Given the description of an element on the screen output the (x, y) to click on. 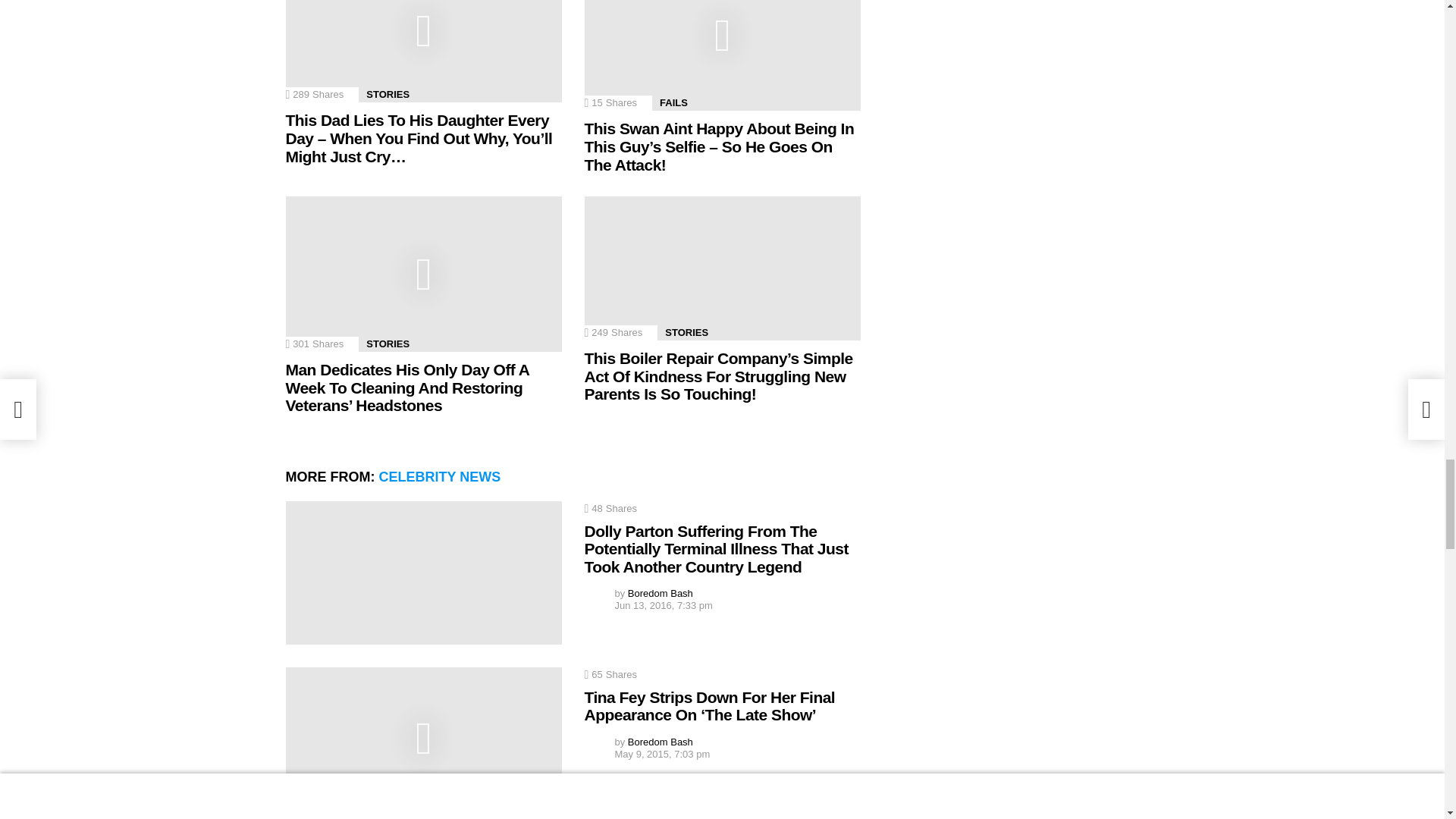
Posts by Boredom Bash (660, 741)
Posts by Boredom Bash (660, 593)
